Given the description of an element on the screen output the (x, y) to click on. 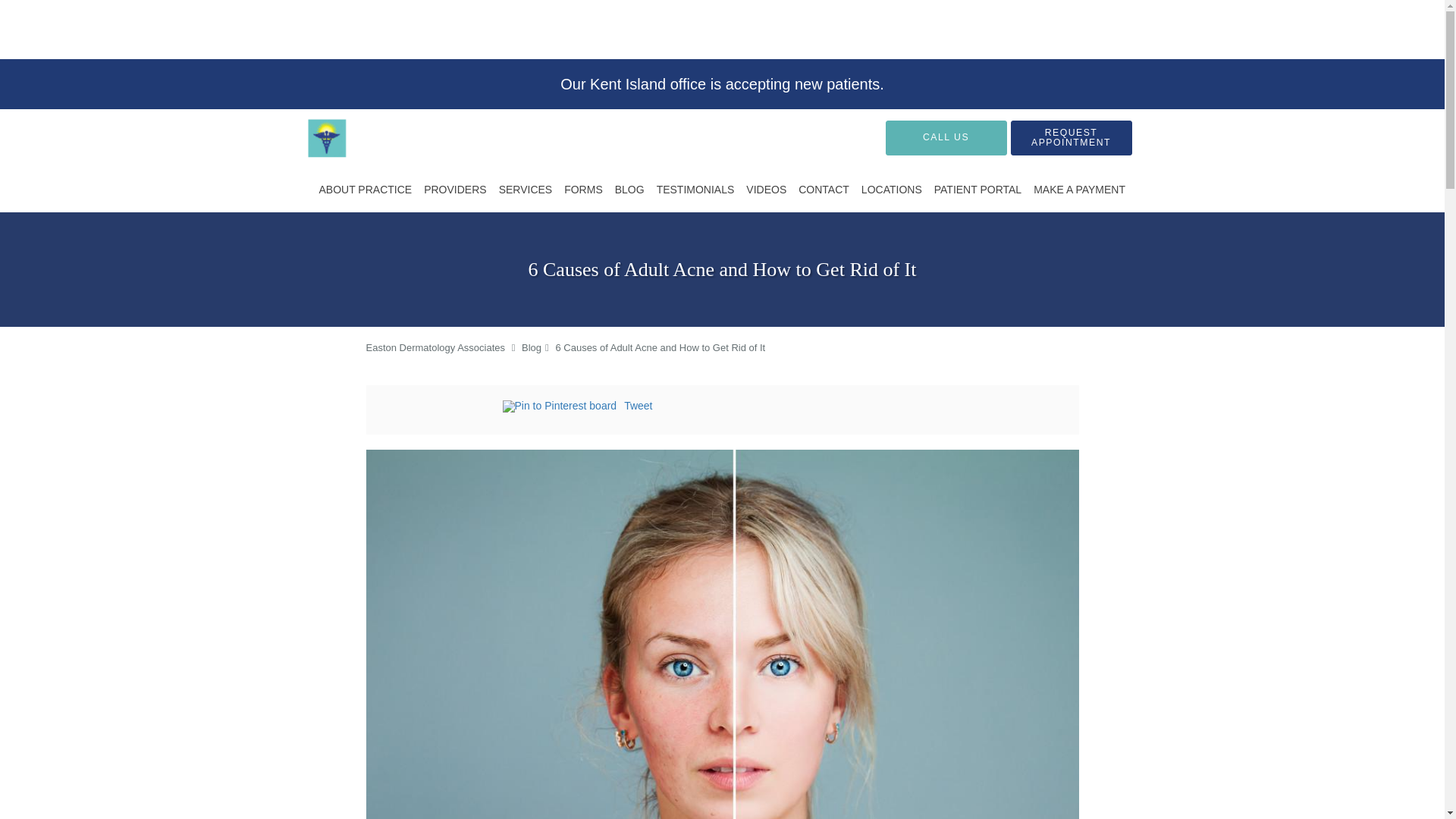
Facebook social button (441, 408)
Easton Dermatology Associates (435, 347)
BLOG (629, 189)
6 Causes of Adult Acne and How to Get Rid of It (659, 347)
SERVICES (526, 189)
CALL US (946, 137)
TESTIMONIALS (695, 189)
PROVIDERS (454, 189)
ABOUT PRACTICE (365, 189)
PATIENT PORTAL (977, 189)
